Given the description of an element on the screen output the (x, y) to click on. 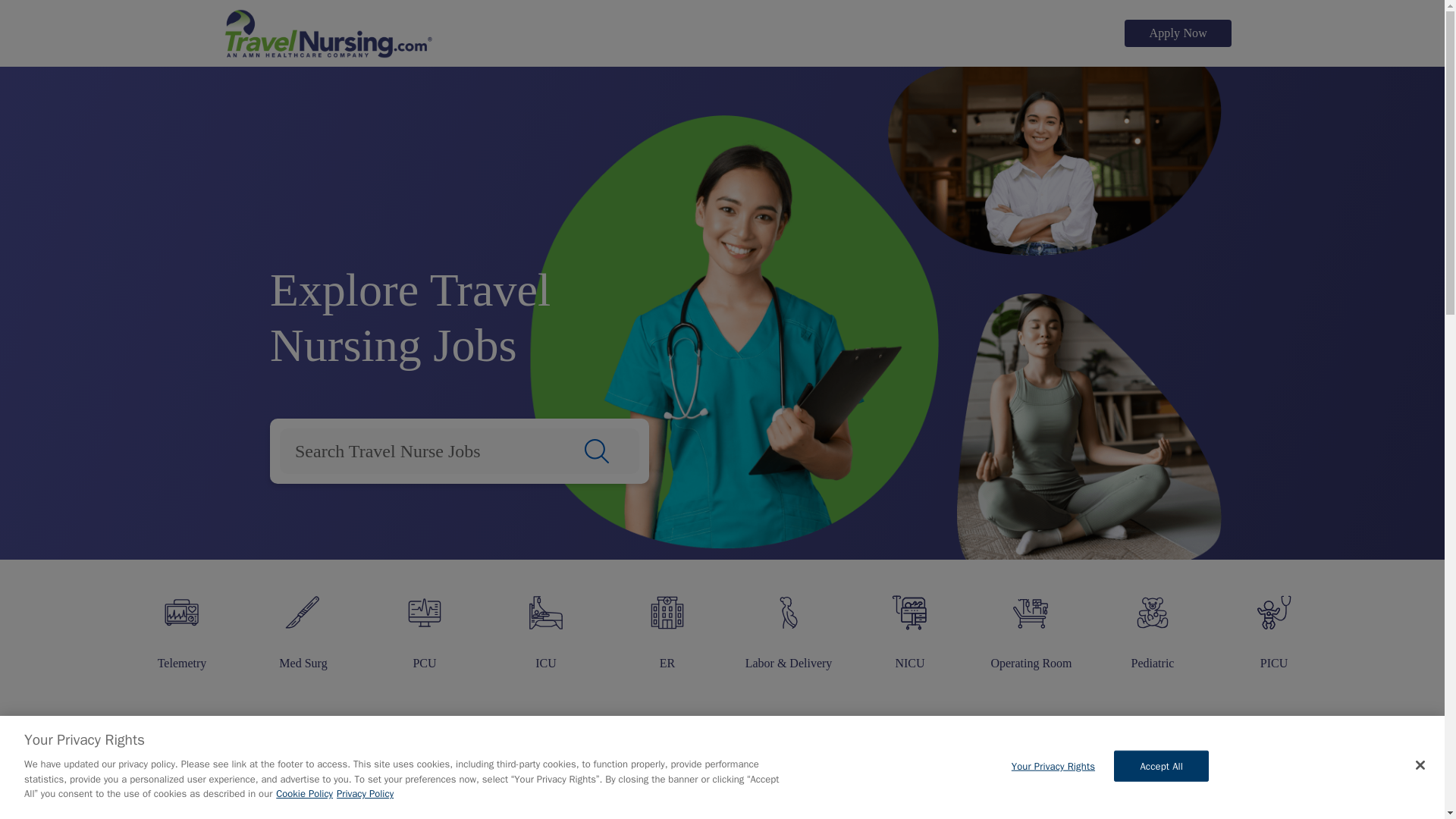
Pediatric (1152, 625)
Telemetry (181, 625)
Med Surg (302, 625)
Operating Room (1030, 625)
ER (666, 625)
NICU (909, 625)
ICU (545, 625)
PICU (1273, 625)
Apply Now (1177, 32)
PCU (424, 625)
